Given the description of an element on the screen output the (x, y) to click on. 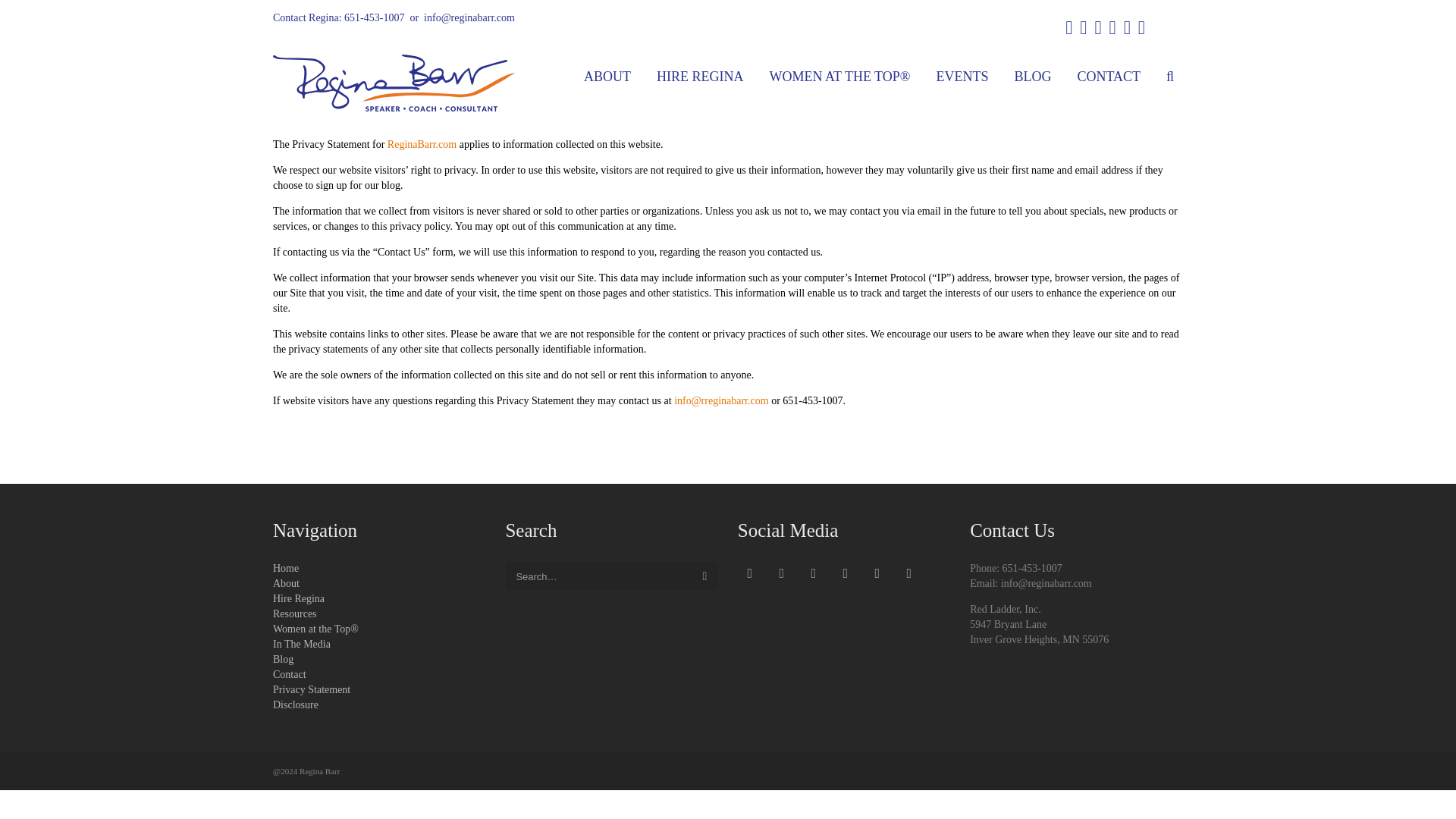
651-453-1007 (373, 17)
HIRE REGINA (699, 76)
ABOUT (607, 76)
CONTACT (1108, 76)
BLOG (1031, 76)
EVENTS (961, 76)
